Given the description of an element on the screen output the (x, y) to click on. 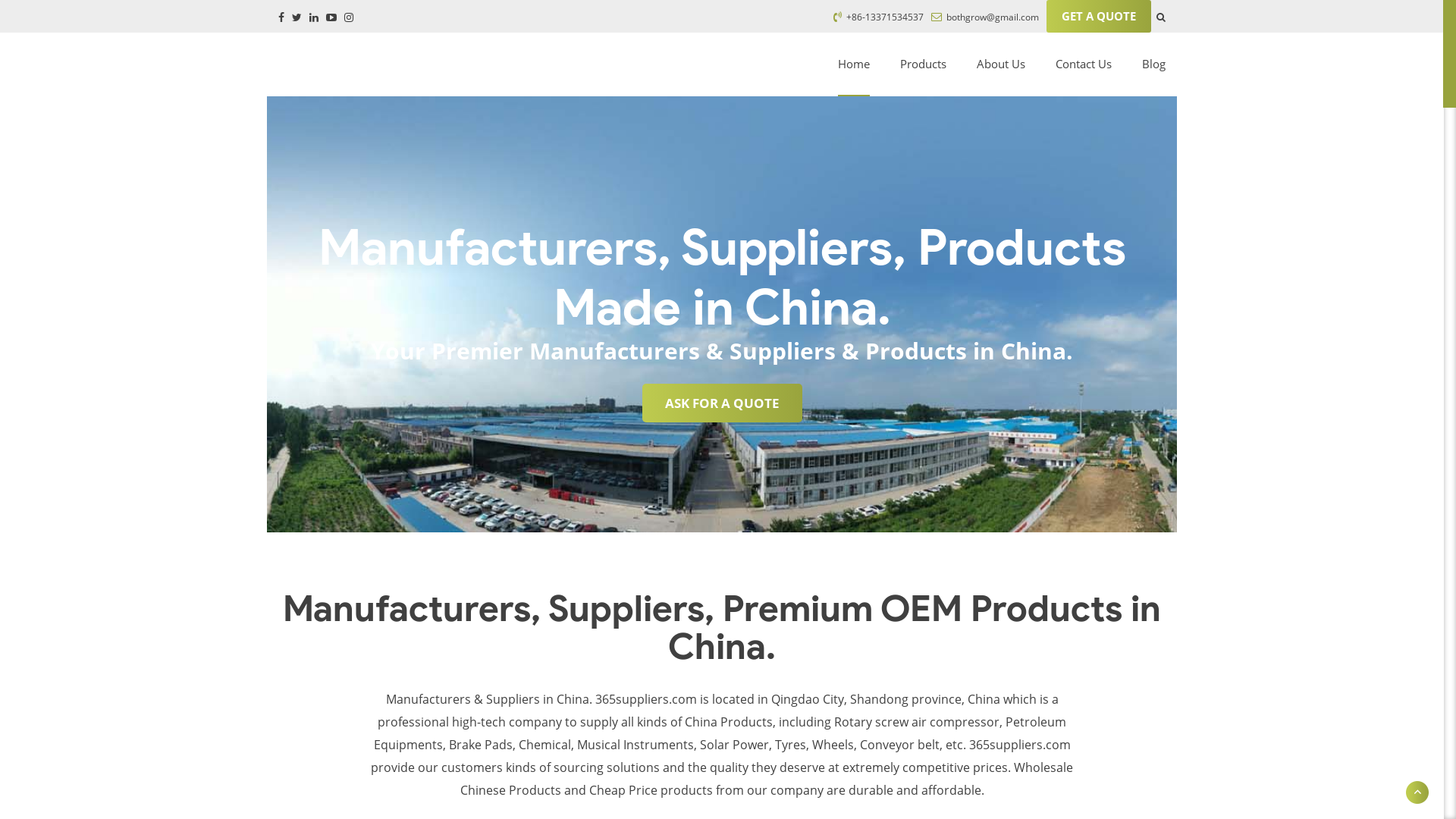
Blog Element type: text (1153, 63)
Products Element type: text (923, 63)
GET A QUOTE Element type: text (1098, 16)
Home Element type: text (853, 63)
Contact Us Element type: text (1083, 63)
bothgrow@gmail.com Element type: text (984, 16)
+86-13371534537 Element type: text (878, 16)
ASK FOR A QUOTE Element type: text (721, 402)
About Us Element type: text (1000, 63)
